Given the description of an element on the screen output the (x, y) to click on. 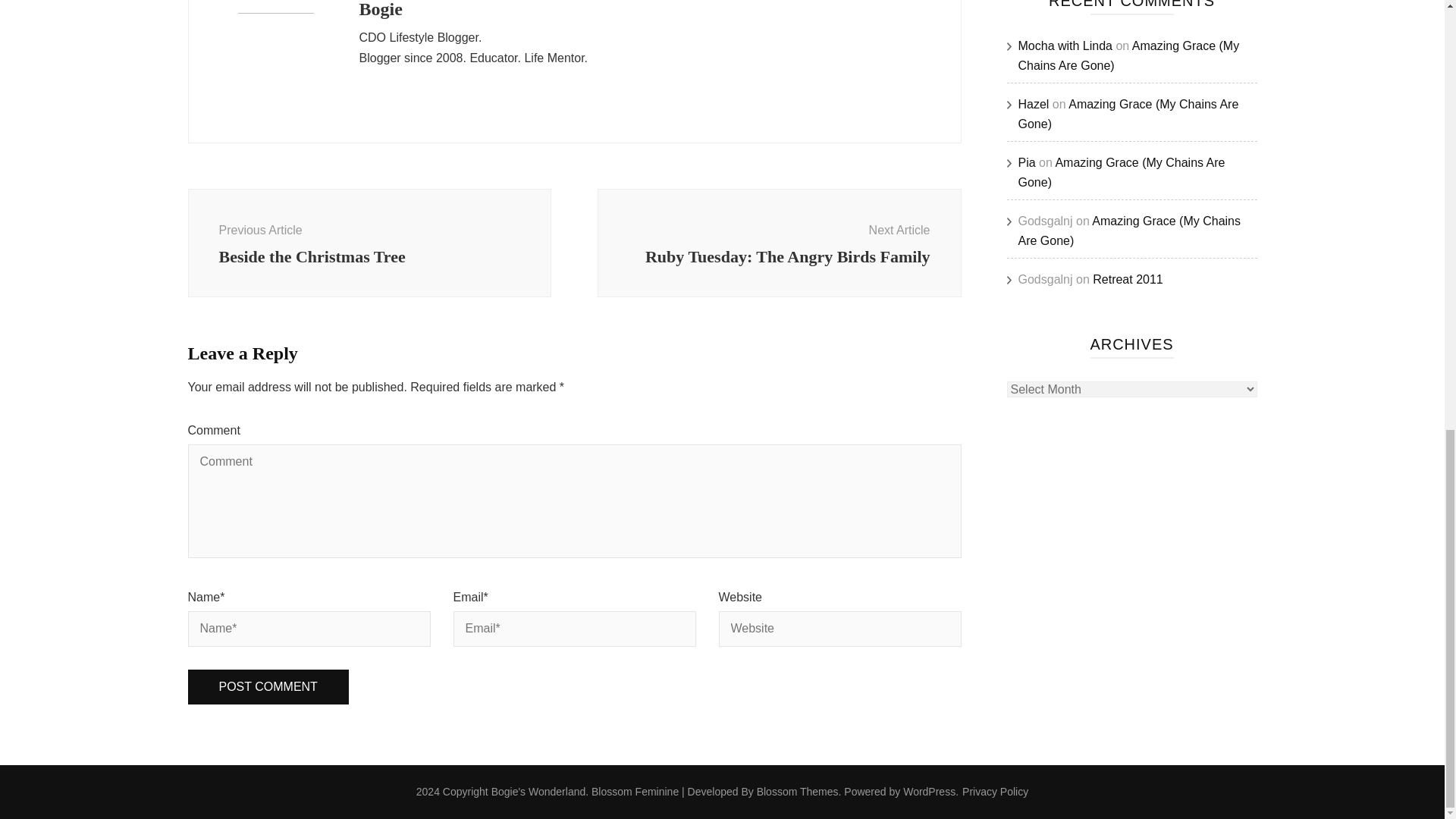
Bogie's Wonderland (369, 243)
Post Comment (539, 791)
Privacy Policy (268, 687)
Post Comment (778, 243)
Pia (994, 791)
Blossom Themes (268, 687)
WordPress (1026, 162)
Hazel (797, 791)
